Given the description of an element on the screen output the (x, y) to click on. 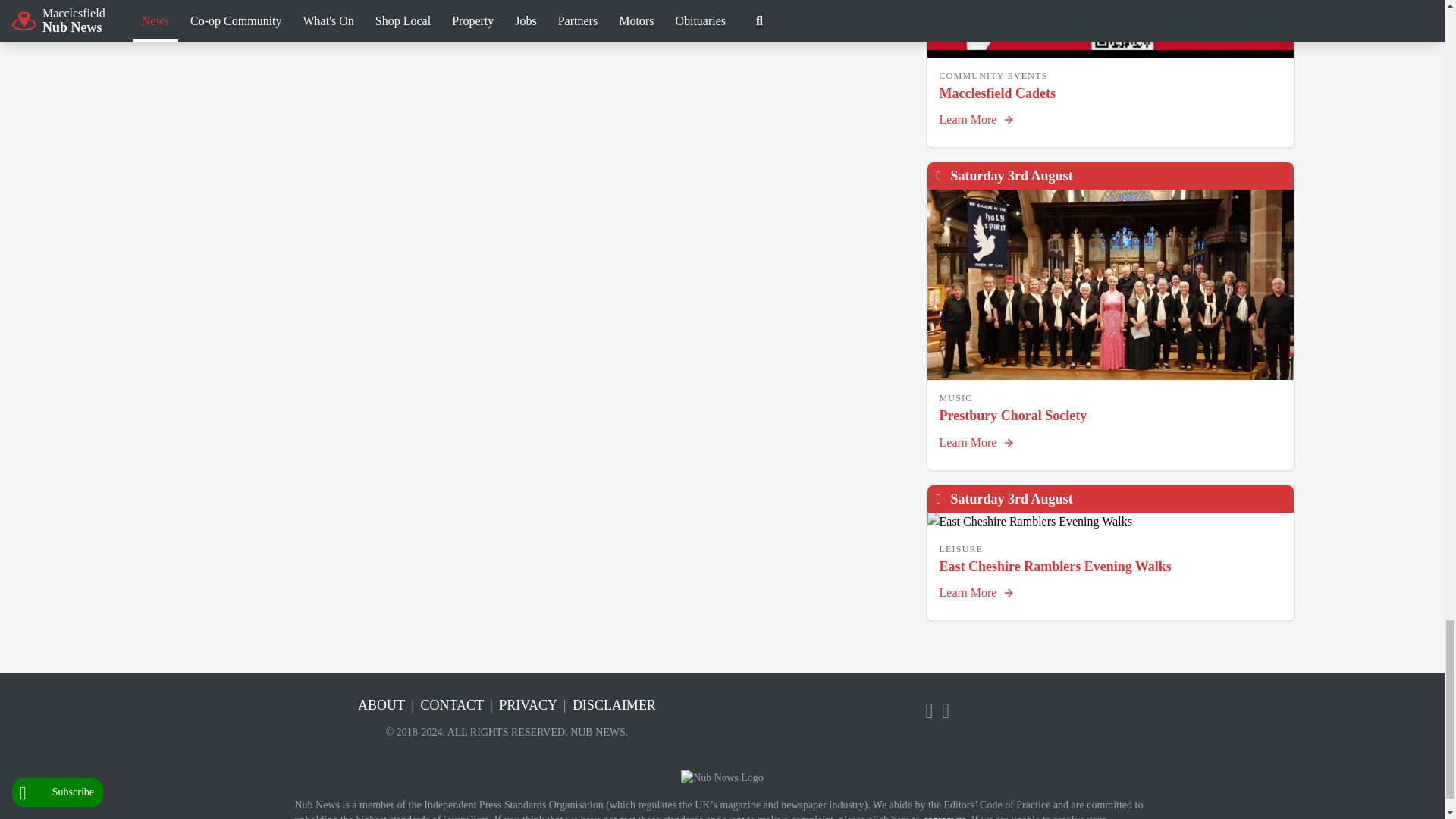
Prestbury Choral Society (1110, 284)
On two times a week in Macclesfield.  (1110, 28)
East Cheshire Ramblers Evening Walks (1110, 521)
